Given the description of an element on the screen output the (x, y) to click on. 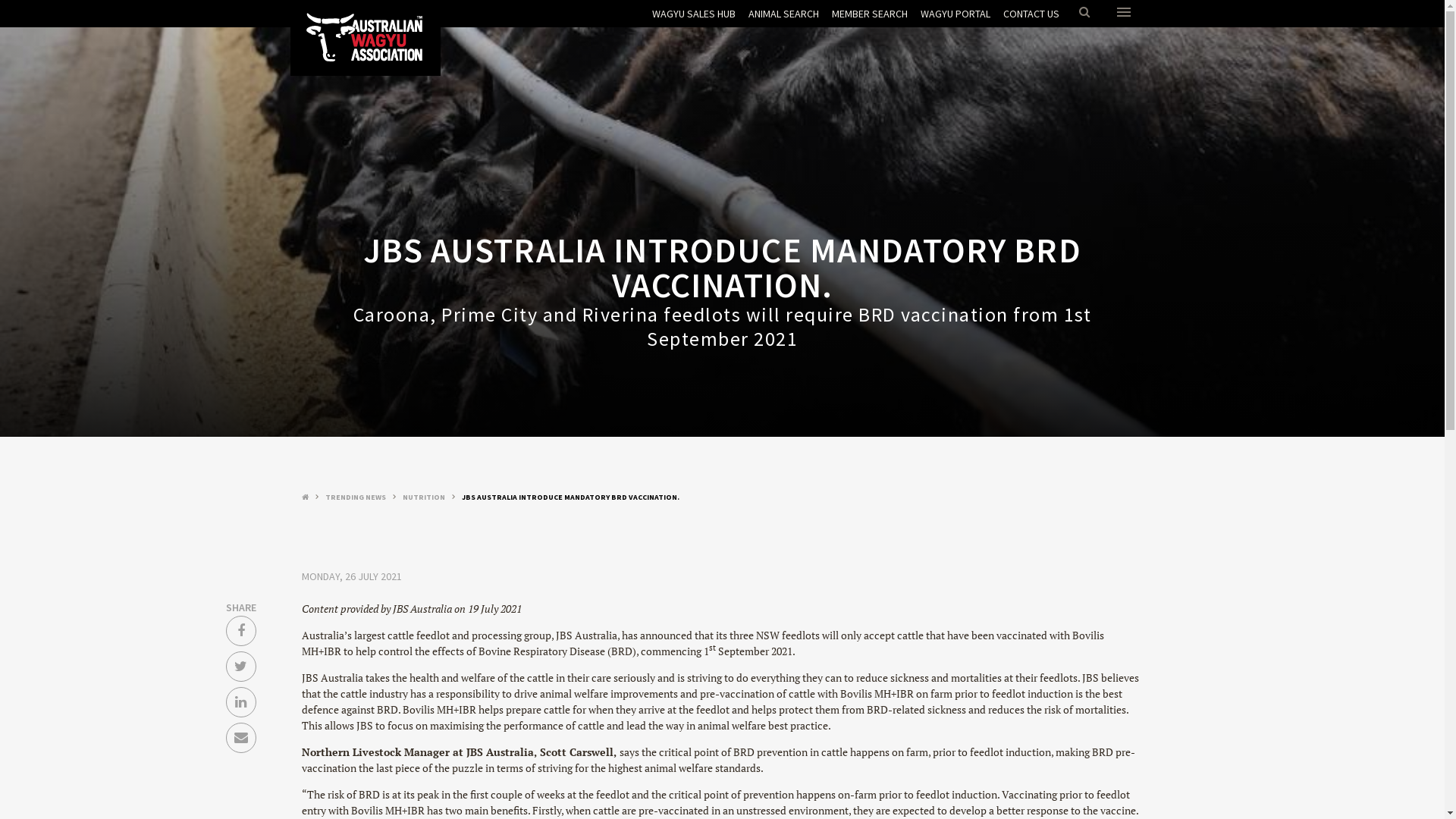
ANIMAL SEARCH Element type: text (782, 13)
CONTACT US Element type: text (1030, 13)
share on linkedin Element type: hover (240, 702)
TRENDING NEWS Element type: text (354, 497)
WAGYU PORTAL Element type: text (955, 13)
share via email Element type: hover (240, 736)
WAGYU SALES HUB Element type: text (693, 13)
share on facebook Element type: hover (240, 630)
share on twitter Element type: hover (240, 665)
MEMBER SEARCH Element type: text (868, 13)
menu Element type: text (1123, 13)
JBS AUSTRALIA INTRODUCE MANDATORY BRD VACCINATION. Element type: text (569, 497)
NUTRITION Element type: text (422, 497)
